Given the description of an element on the screen output the (x, y) to click on. 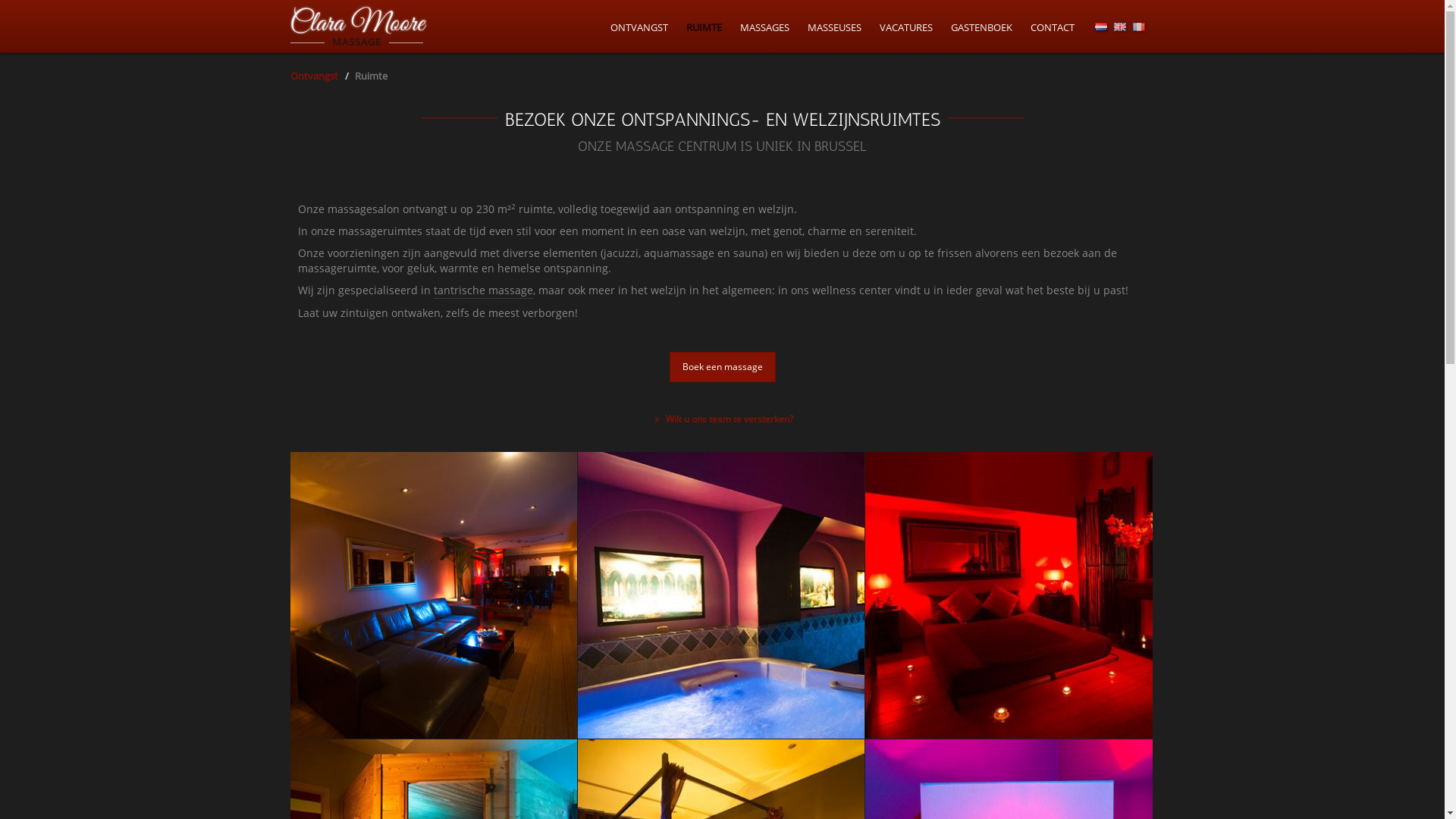
MASSEUSES Element type: text (833, 27)
MASSAGES Element type: text (764, 27)
tantrische massage Element type: text (483, 290)
VACATURES Element type: text (905, 27)
Boek een massage Element type: text (721, 366)
GASTENBOEK Element type: text (981, 27)
CONTACT Element type: text (1051, 27)
ONTVANGST Element type: text (638, 27)
Website Engelse versie Element type: hover (1119, 26)
Wilt u ons team te versterken? Element type: text (721, 418)
Ontvangst Element type: text (313, 75)
RUIMTE Element type: text (703, 27)
Website Nederlandse versie Element type: hover (1101, 26)
Website Franse versie Element type: hover (1138, 26)
